Given the description of an element on the screen output the (x, y) to click on. 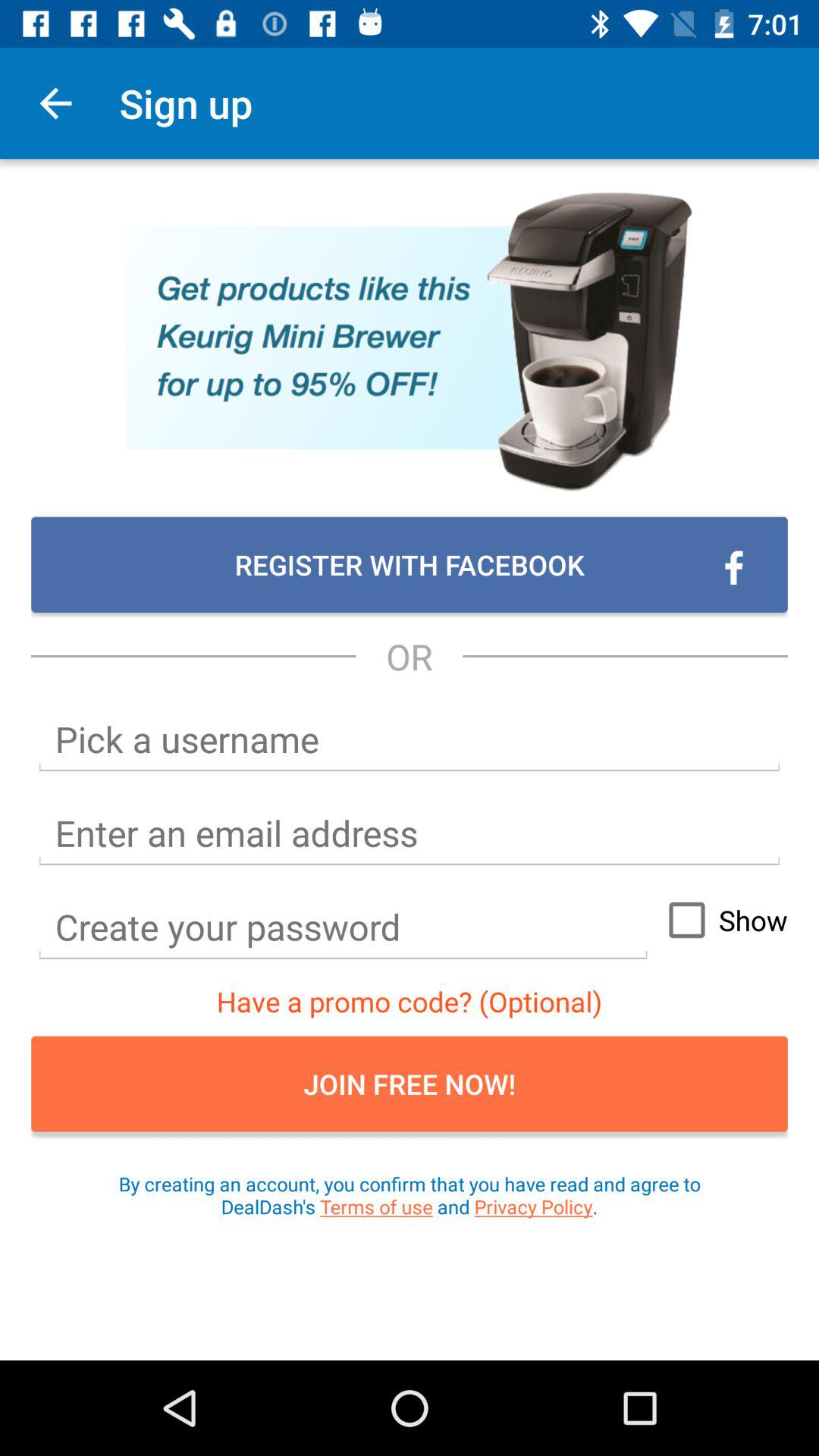
tap the icon on the right (721, 920)
